Given the description of an element on the screen output the (x, y) to click on. 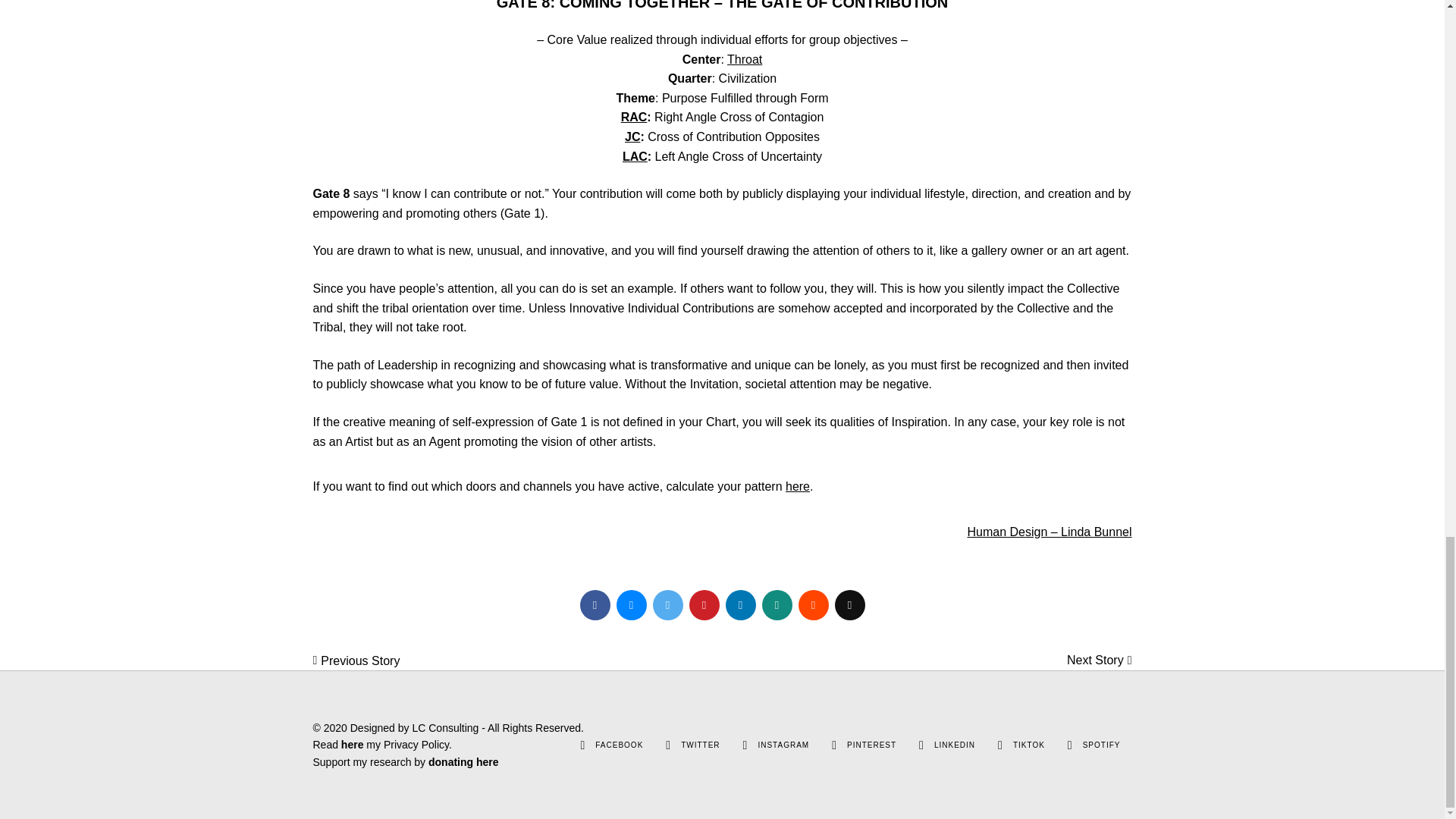
Twitter (667, 604)
Facebook (594, 604)
RAC (634, 116)
Facebook (618, 745)
Linkedin (740, 604)
Whatsapp (776, 604)
Instagram (783, 745)
LAC (635, 155)
JC (632, 136)
here (797, 486)
Email (849, 604)
Instagram (745, 745)
Reddit (812, 604)
Pinterest (703, 604)
Facebook (582, 745)
